Given the description of an element on the screen output the (x, y) to click on. 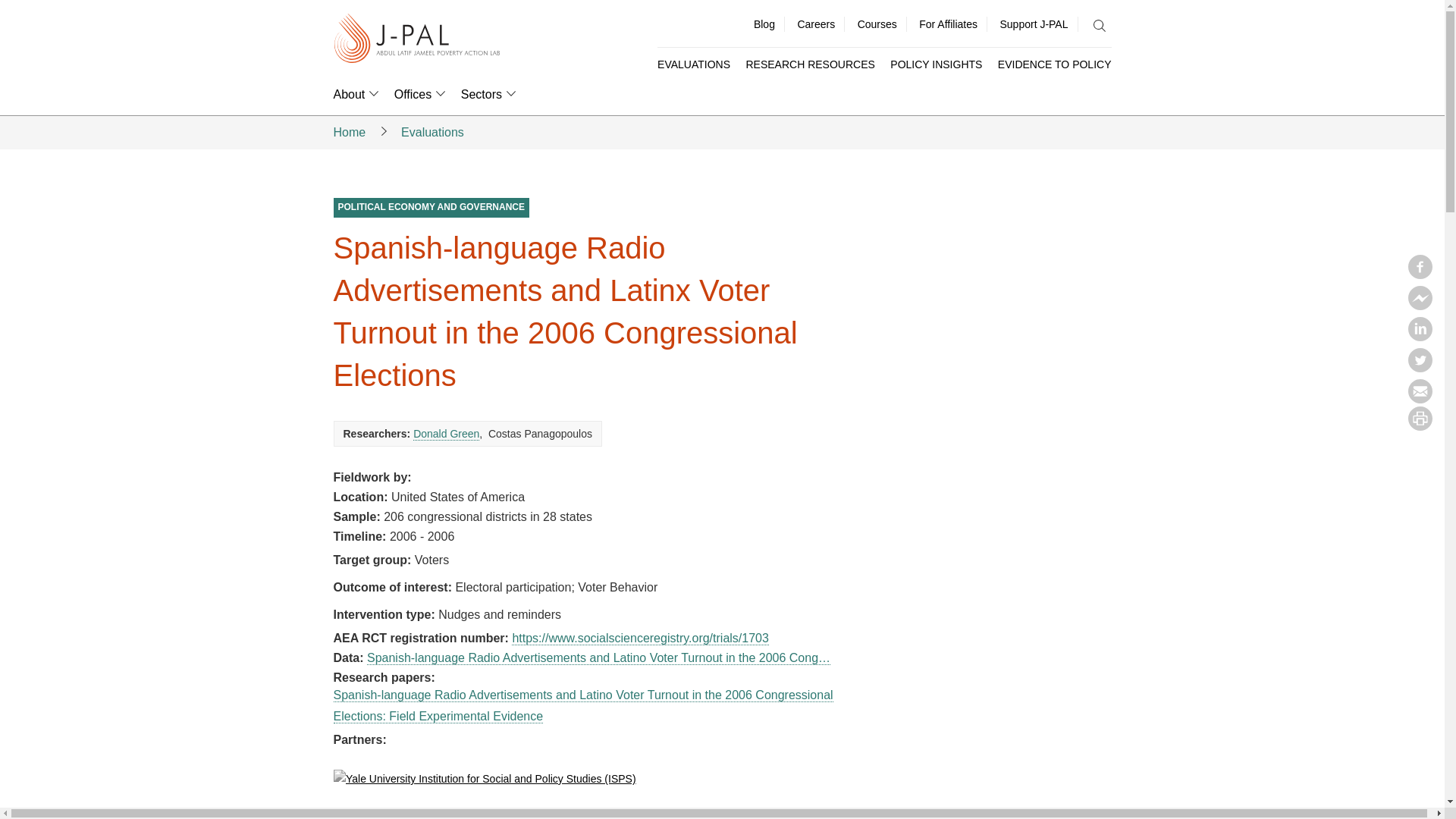
Email (1419, 399)
Twitter (1419, 367)
Facebook messenger (1419, 305)
Facebook (1419, 274)
J-PAL (416, 39)
print (1419, 426)
Linkedin (1419, 336)
